Given the description of an element on the screen output the (x, y) to click on. 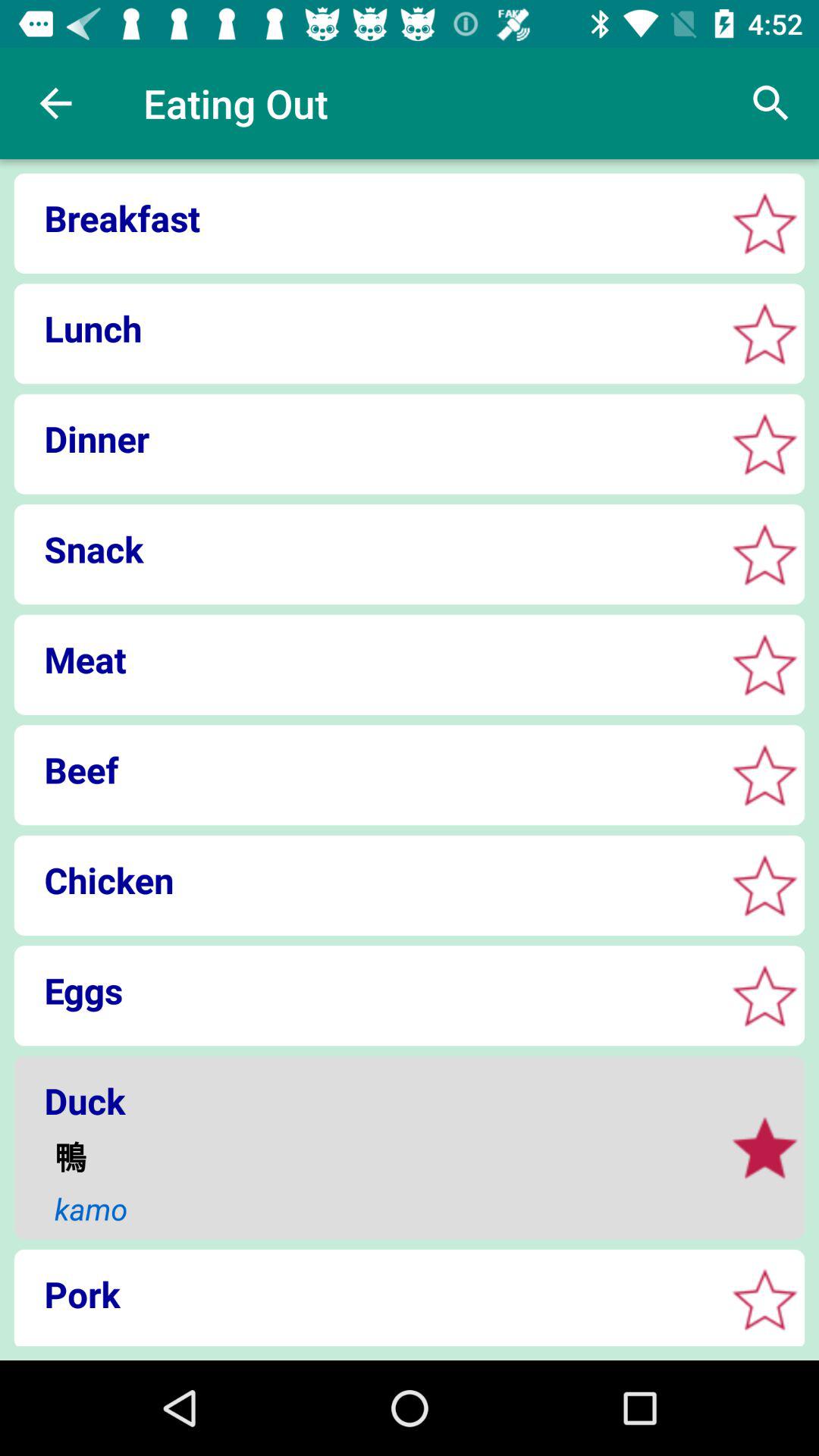
click the red star (764, 885)
